Given the description of an element on the screen output the (x, y) to click on. 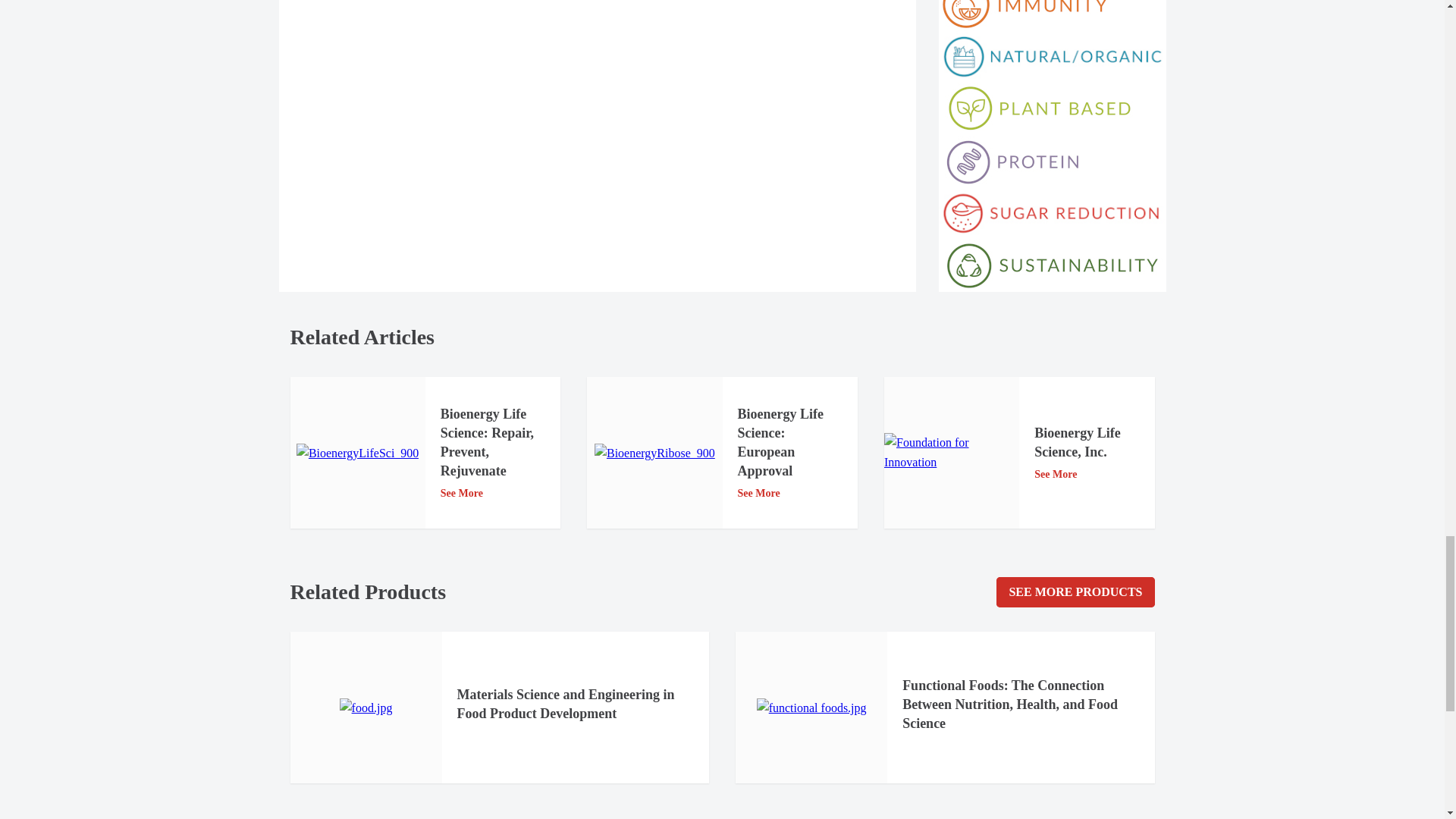
Foundation for Innovation Feature (951, 453)
functional foods.jpg (811, 708)
food.jpg (366, 708)
